Given the description of an element on the screen output the (x, y) to click on. 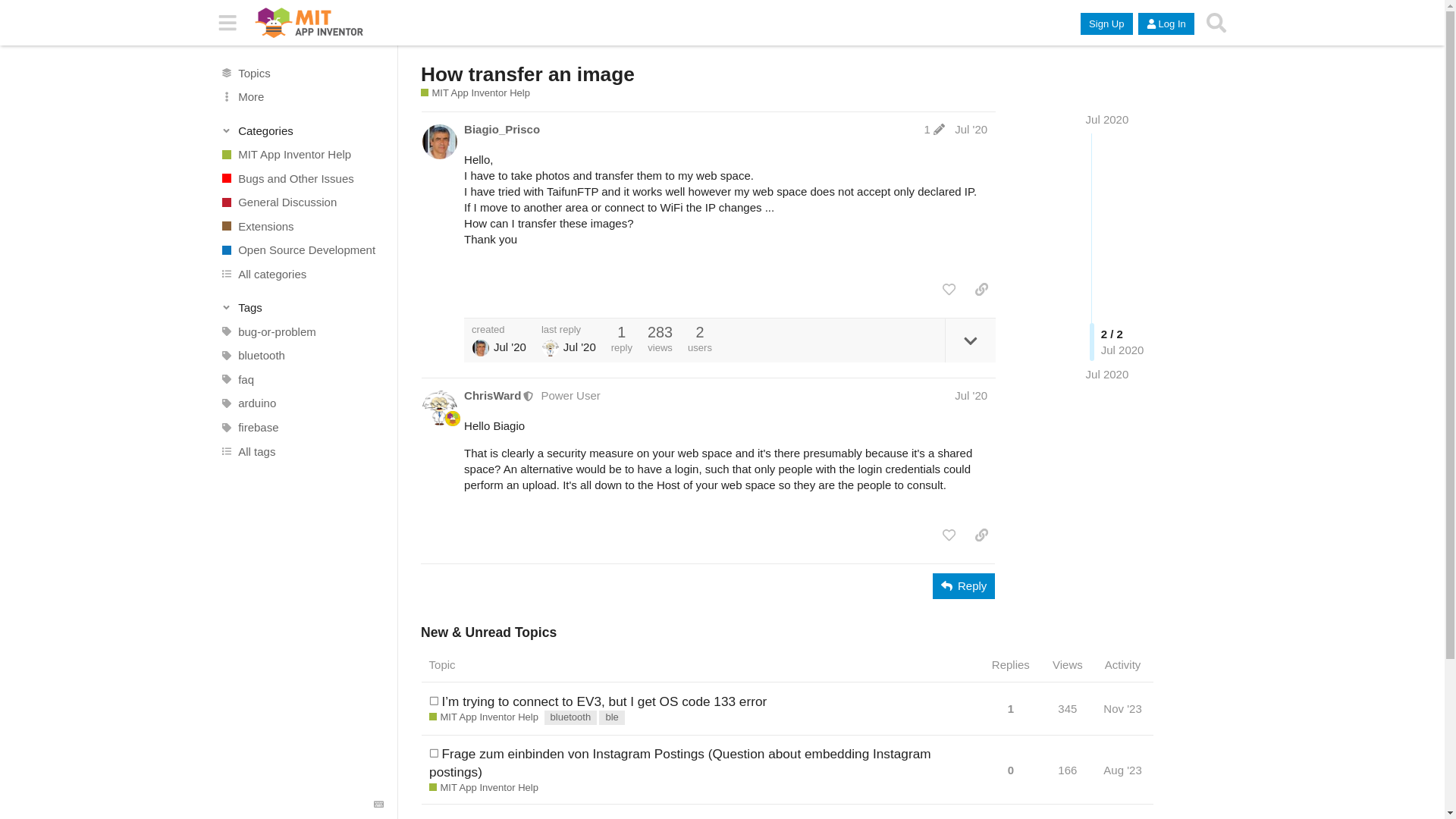
arduino (301, 403)
1 (934, 128)
Toggle section (301, 130)
Toggle section (301, 307)
Keyboard Shortcuts (378, 805)
Report potential issues with App Inventor in this category. (301, 178)
Jul 2020 (1107, 119)
bluetooth (301, 355)
Search (1215, 22)
